Given the description of an element on the screen output the (x, y) to click on. 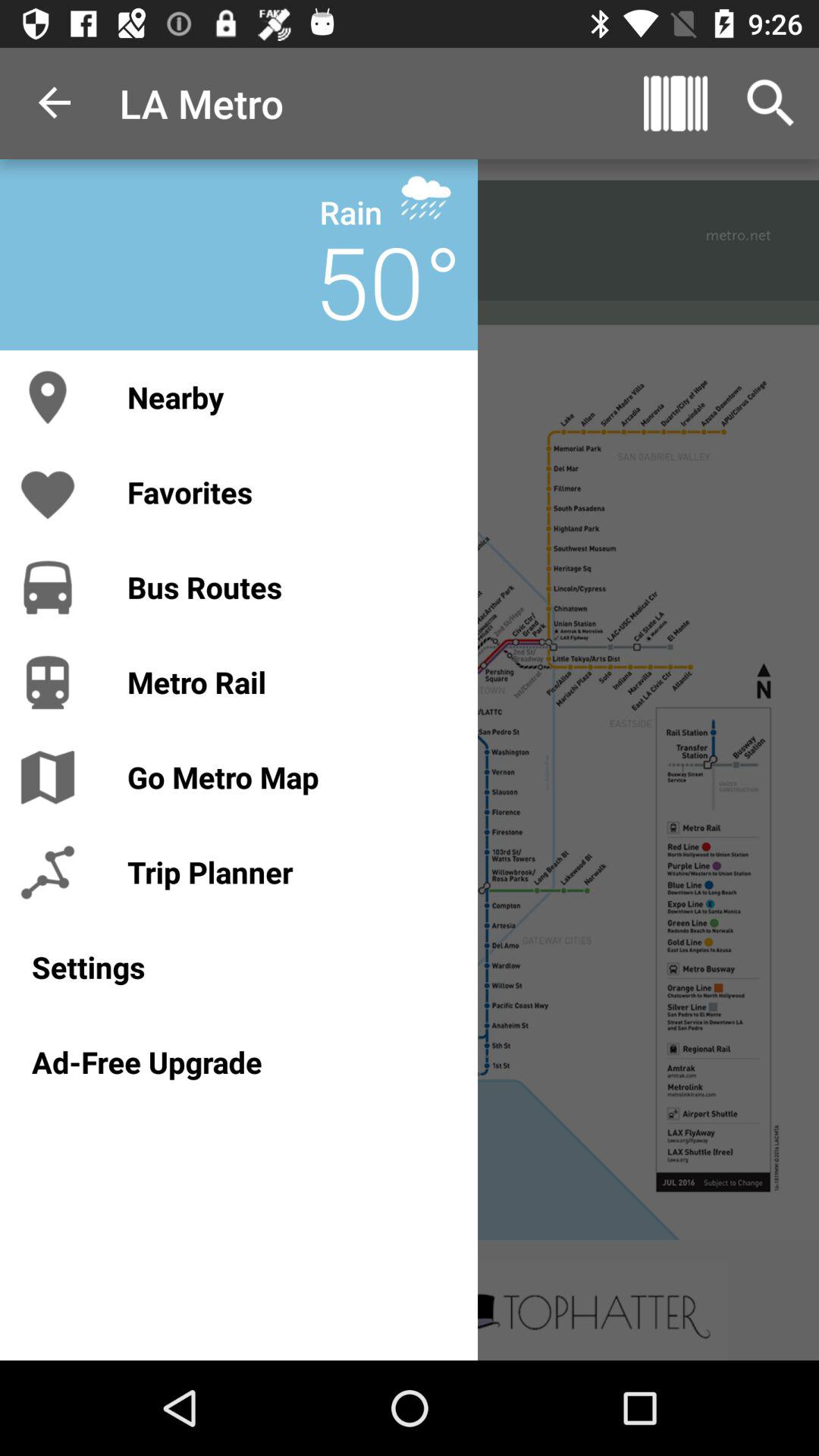
choose ad-free upgrade (238, 1061)
